Given the description of an element on the screen output the (x, y) to click on. 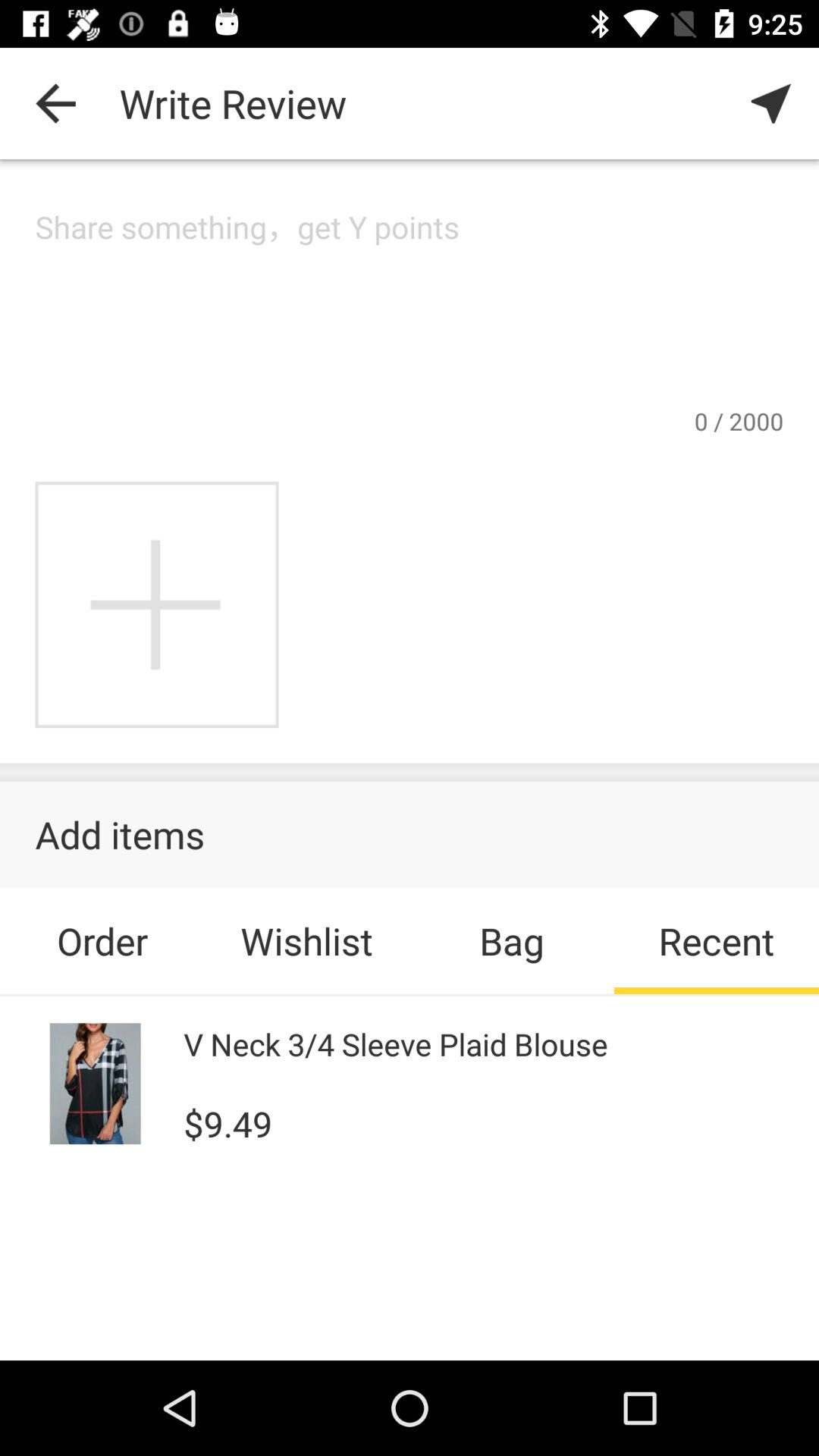
scroll until $9.49 item (227, 1121)
